Given the description of an element on the screen output the (x, y) to click on. 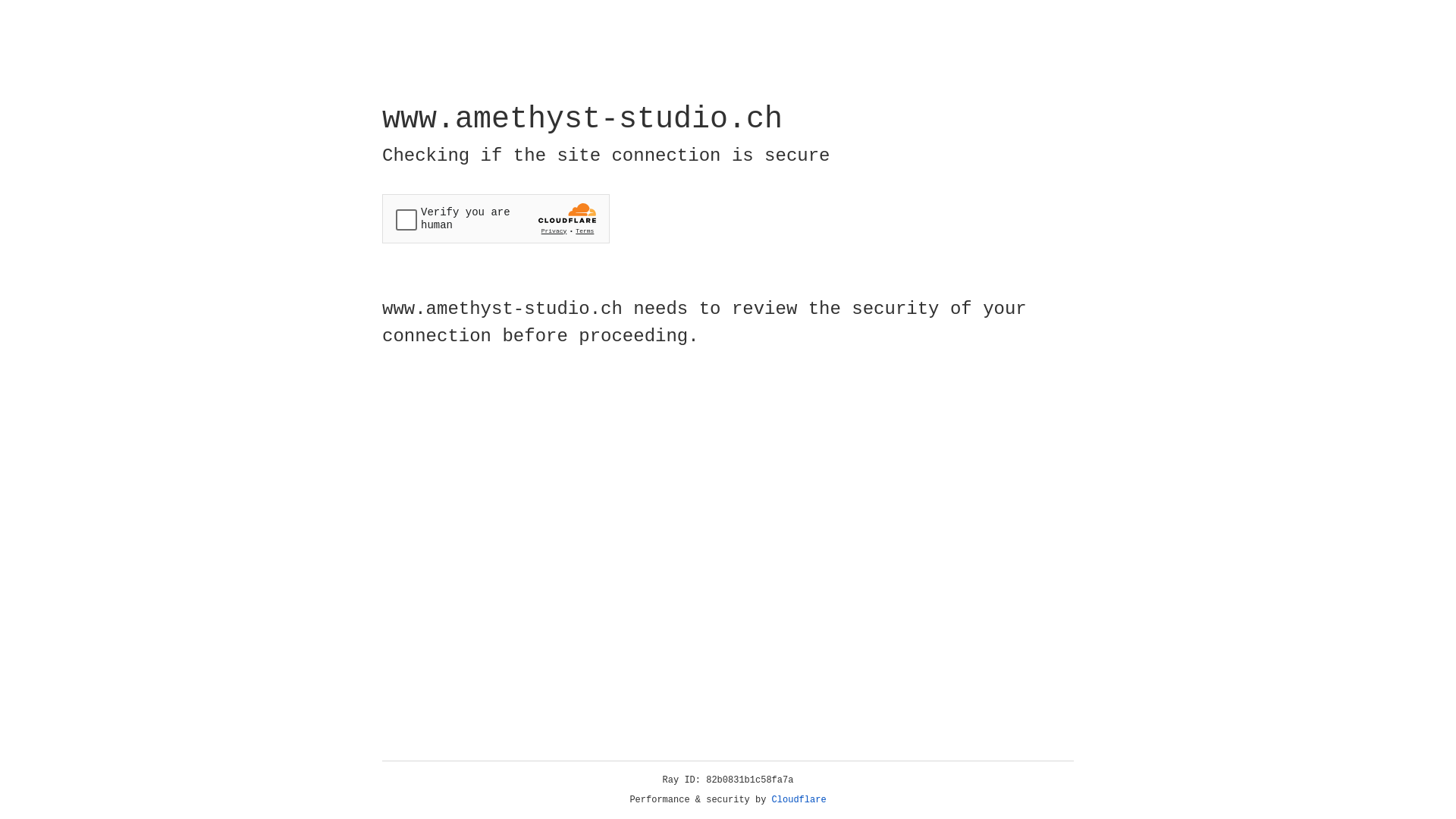
Widget containing a Cloudflare security challenge Element type: hover (495, 218)
Cloudflare Element type: text (798, 799)
